Given the description of an element on the screen output the (x, y) to click on. 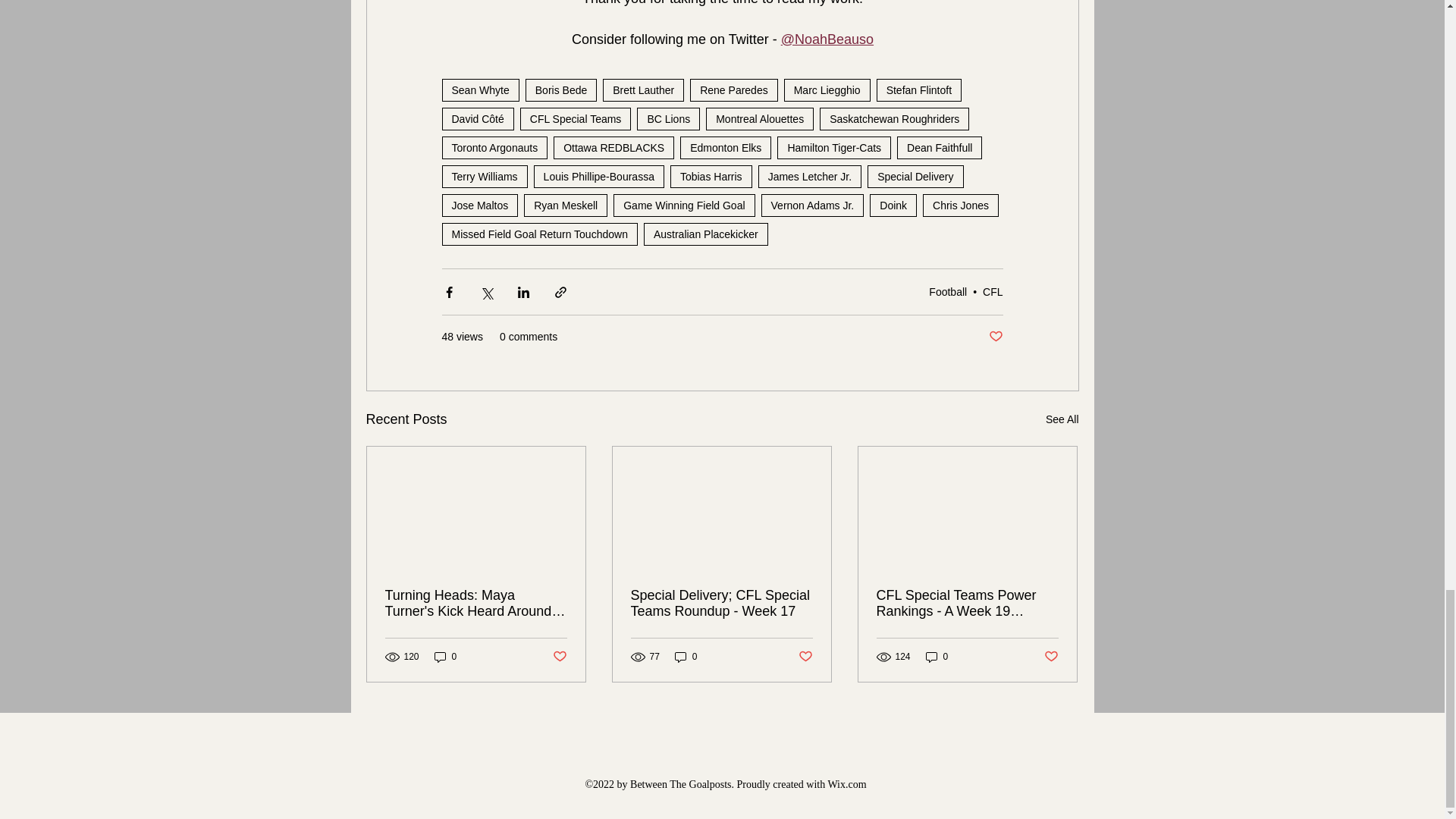
Rene Paredes (733, 89)
BC Lions (668, 118)
Toronto Argonauts (494, 147)
Saskatchewan Roughriders (894, 118)
Brett Lauther (643, 89)
Sean Whyte (479, 89)
CFL Special Teams (575, 118)
Stefan Flintoft (918, 89)
Boris Bede (560, 89)
Ottawa REDBLACKS (613, 147)
Montreal Alouettes (759, 118)
Edmonton Elks (725, 147)
Marc Liegghio (827, 89)
